Given the description of an element on the screen output the (x, y) to click on. 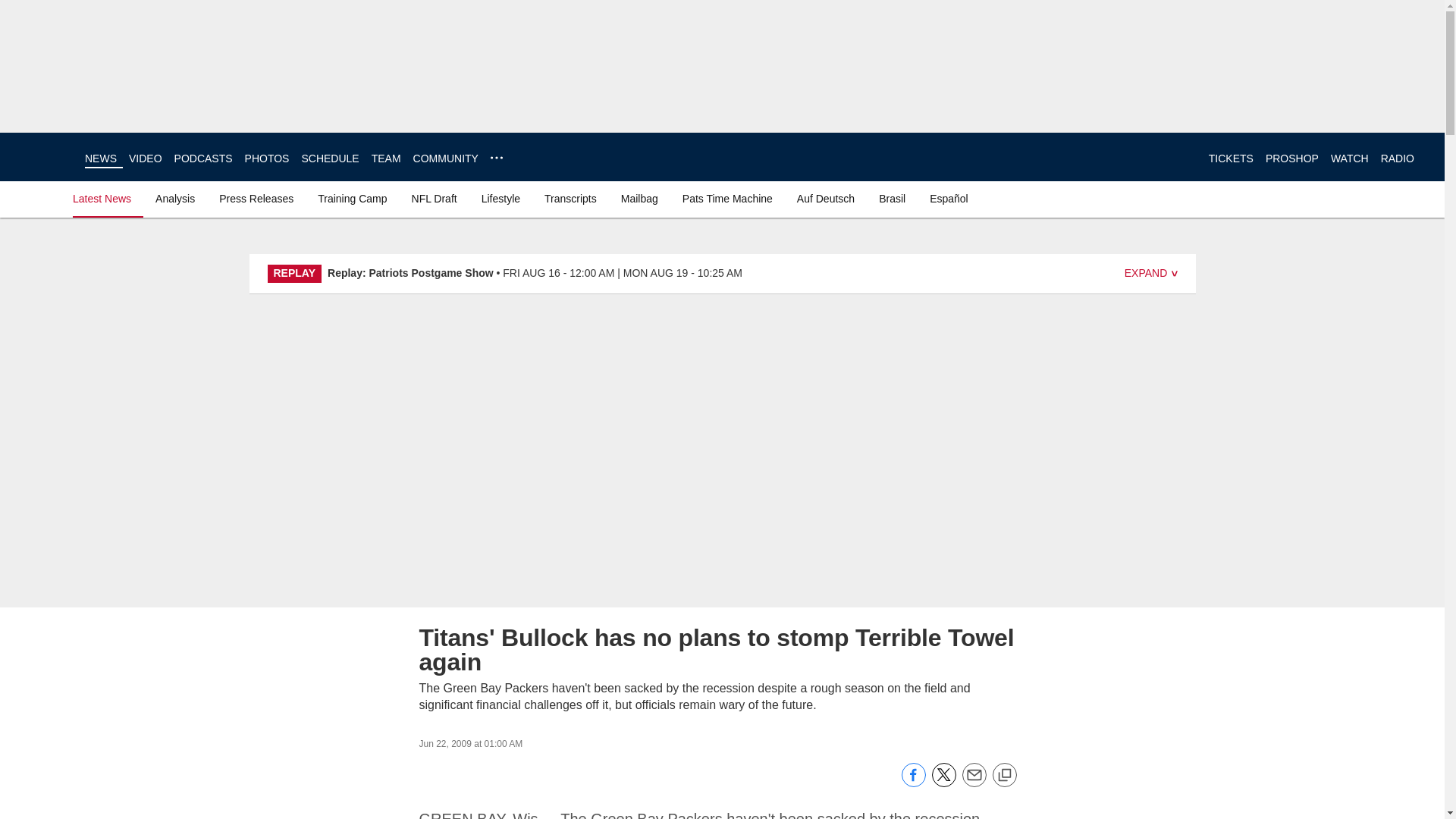
EXPAND (1150, 273)
RADIO (1396, 158)
VIDEO (145, 158)
Replay: Patriots Postgame Show (410, 272)
Transcripts (570, 198)
Analysis (174, 198)
NEWS (100, 158)
Brasil (891, 198)
SCHEDULE (329, 158)
TICKETS (1230, 158)
